Given the description of an element on the screen output the (x, y) to click on. 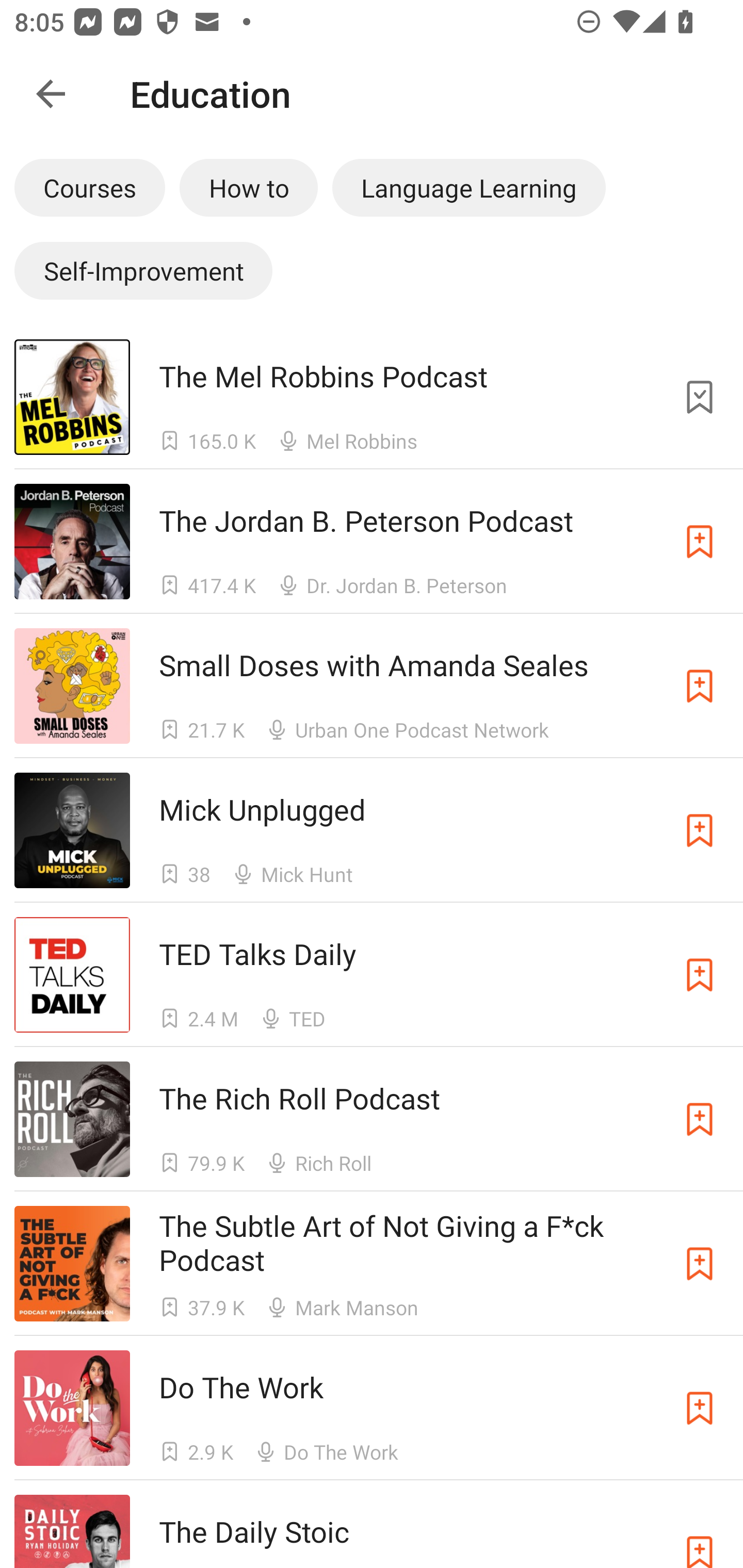
Navigate up (50, 93)
Courses (89, 187)
How to (248, 187)
Language Learning (468, 187)
Self-Improvement (143, 270)
Unsubscribe (699, 396)
Subscribe (699, 541)
Subscribe (699, 685)
Subscribe (699, 830)
Subscribe (699, 975)
Subscribe (699, 1119)
Subscribe (699, 1263)
Subscribe (699, 1408)
The Daily Stoic The Daily Stoic Subscribe (371, 1524)
Subscribe (699, 1531)
